Given the description of an element on the screen output the (x, y) to click on. 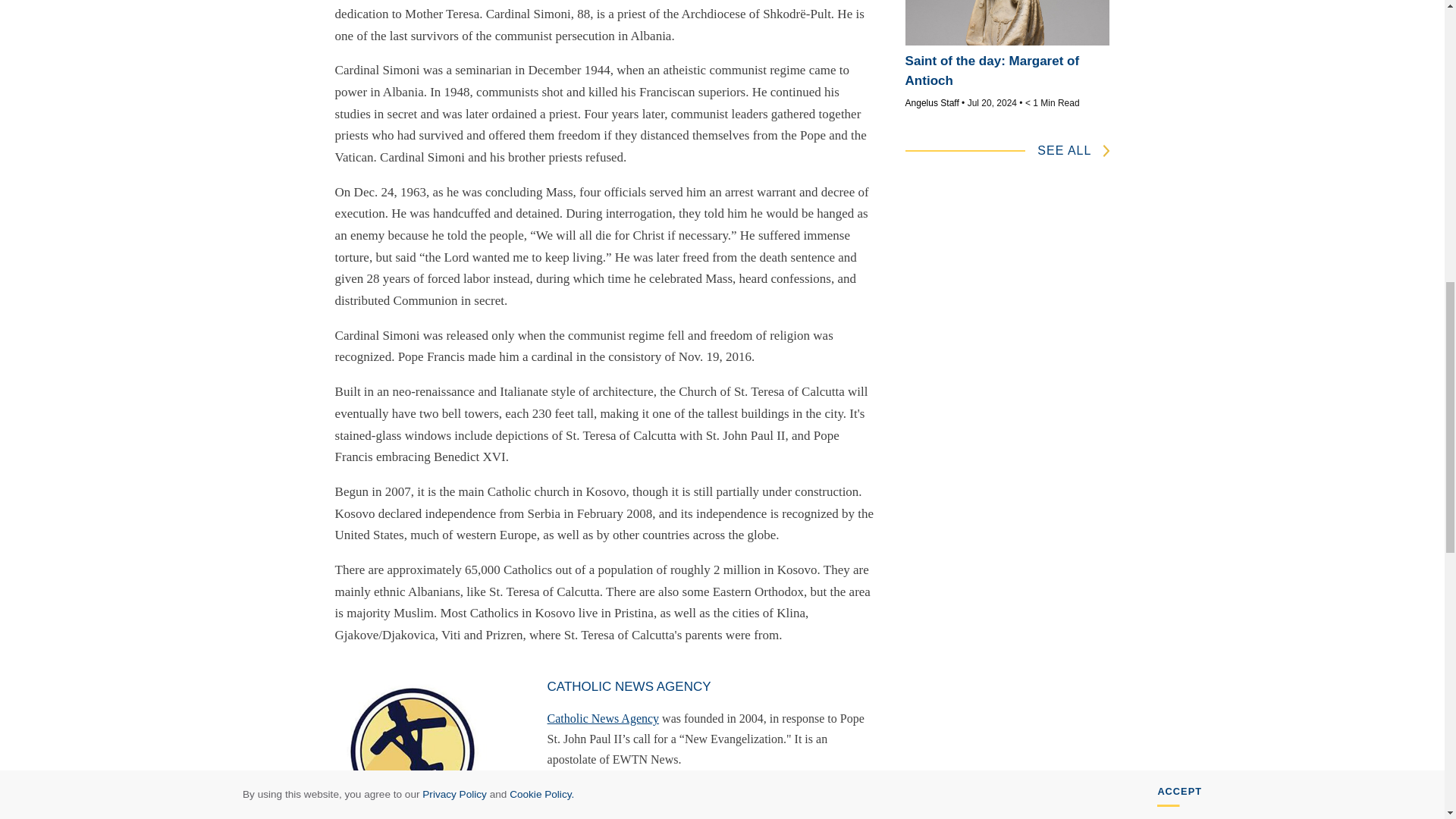
Posts by Angelus Staff (932, 102)
